Given the description of an element on the screen output the (x, y) to click on. 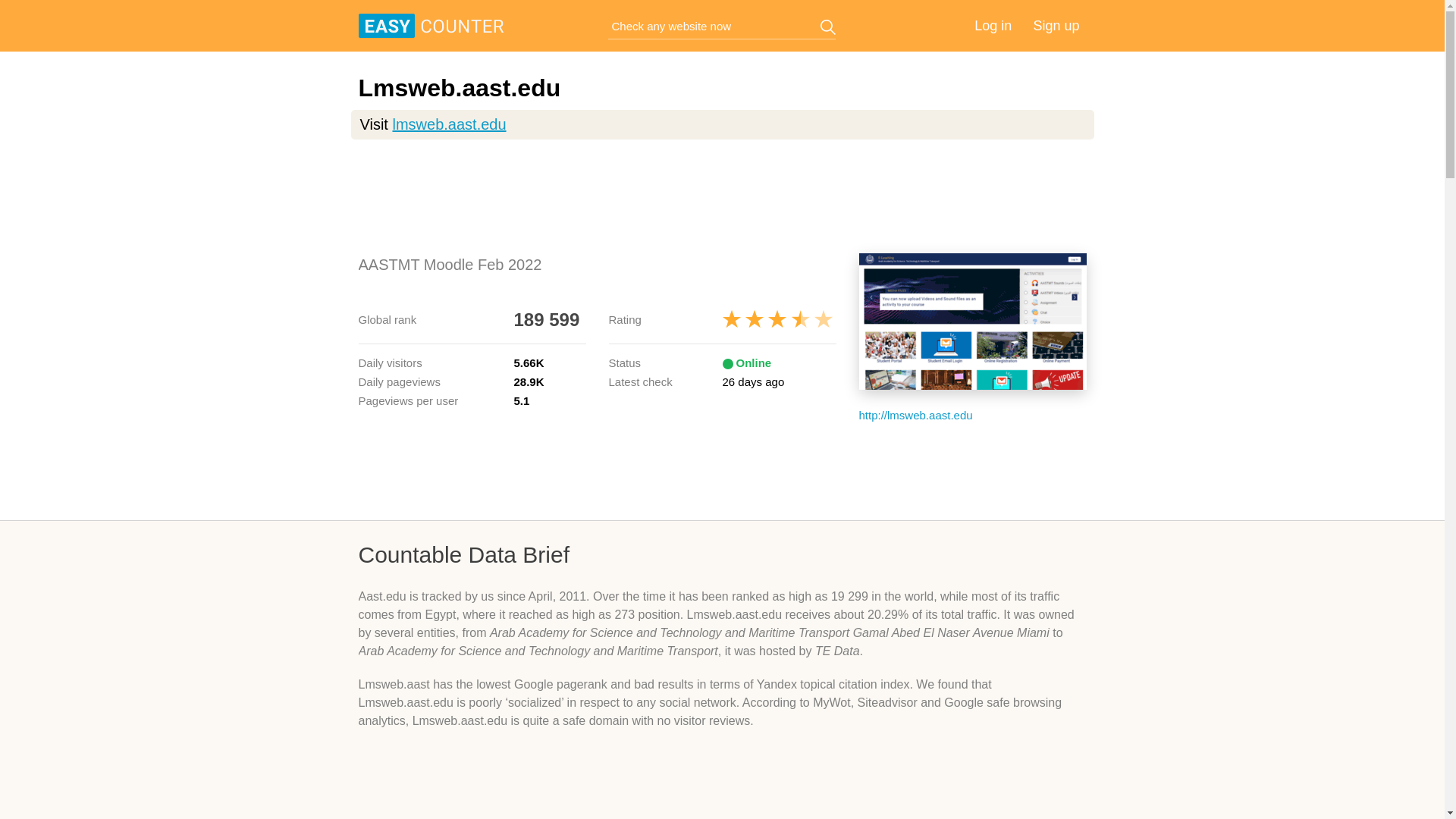
Advertisement (722, 470)
Advertisement (722, 196)
lmsweb.aast.edu (448, 124)
Lmsweb.aast.edu thumbnail (972, 321)
Sign up (1056, 25)
Log in (992, 25)
Advertisement (722, 785)
